Given the description of an element on the screen output the (x, y) to click on. 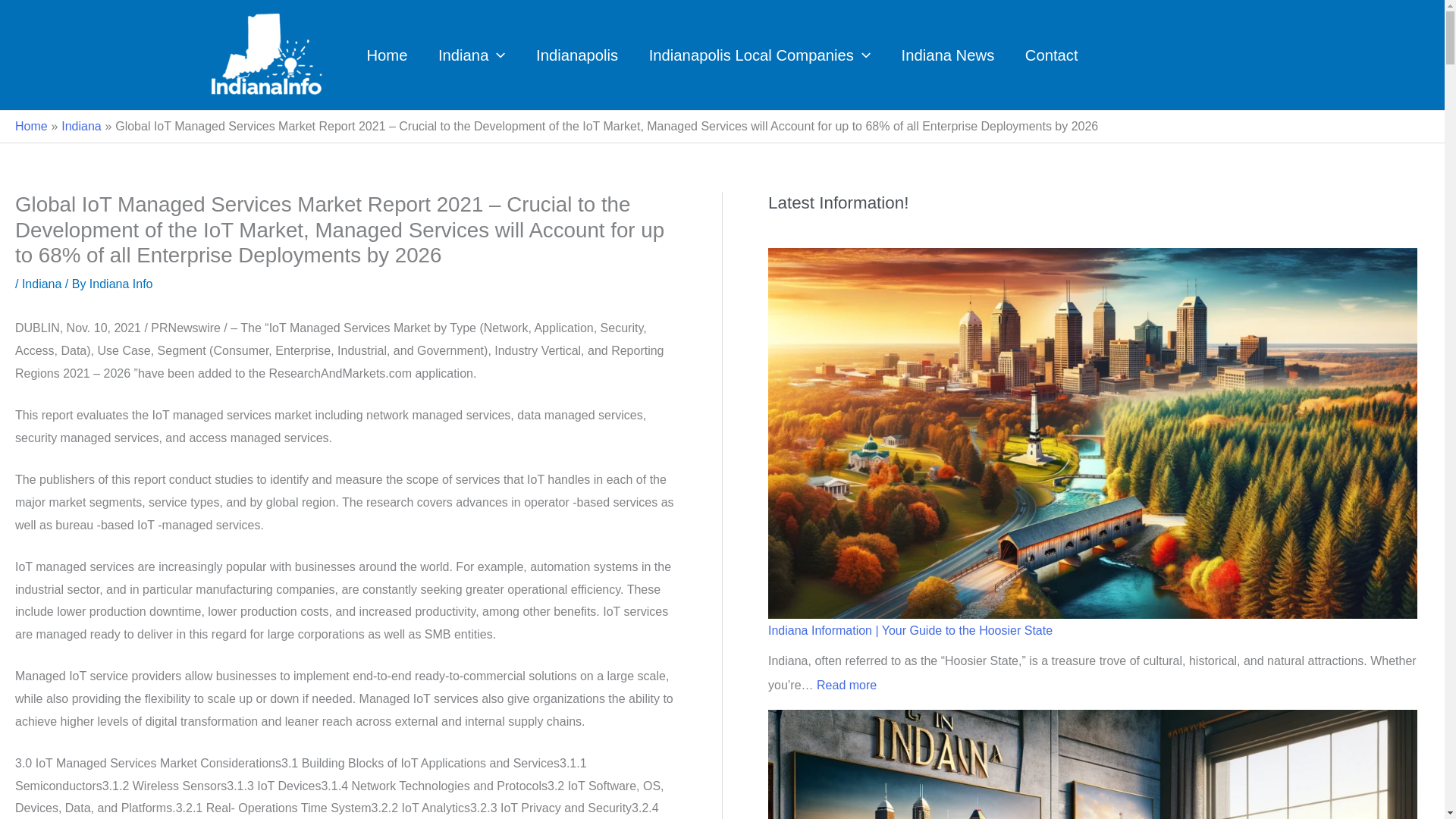
Home (386, 53)
View all posts by Indiana Info (120, 283)
Indiana News (947, 53)
Indianapolis Local Companies (759, 53)
Contact (1051, 53)
Indiana (472, 53)
Indianapolis (577, 53)
